Given the description of an element on the screen output the (x, y) to click on. 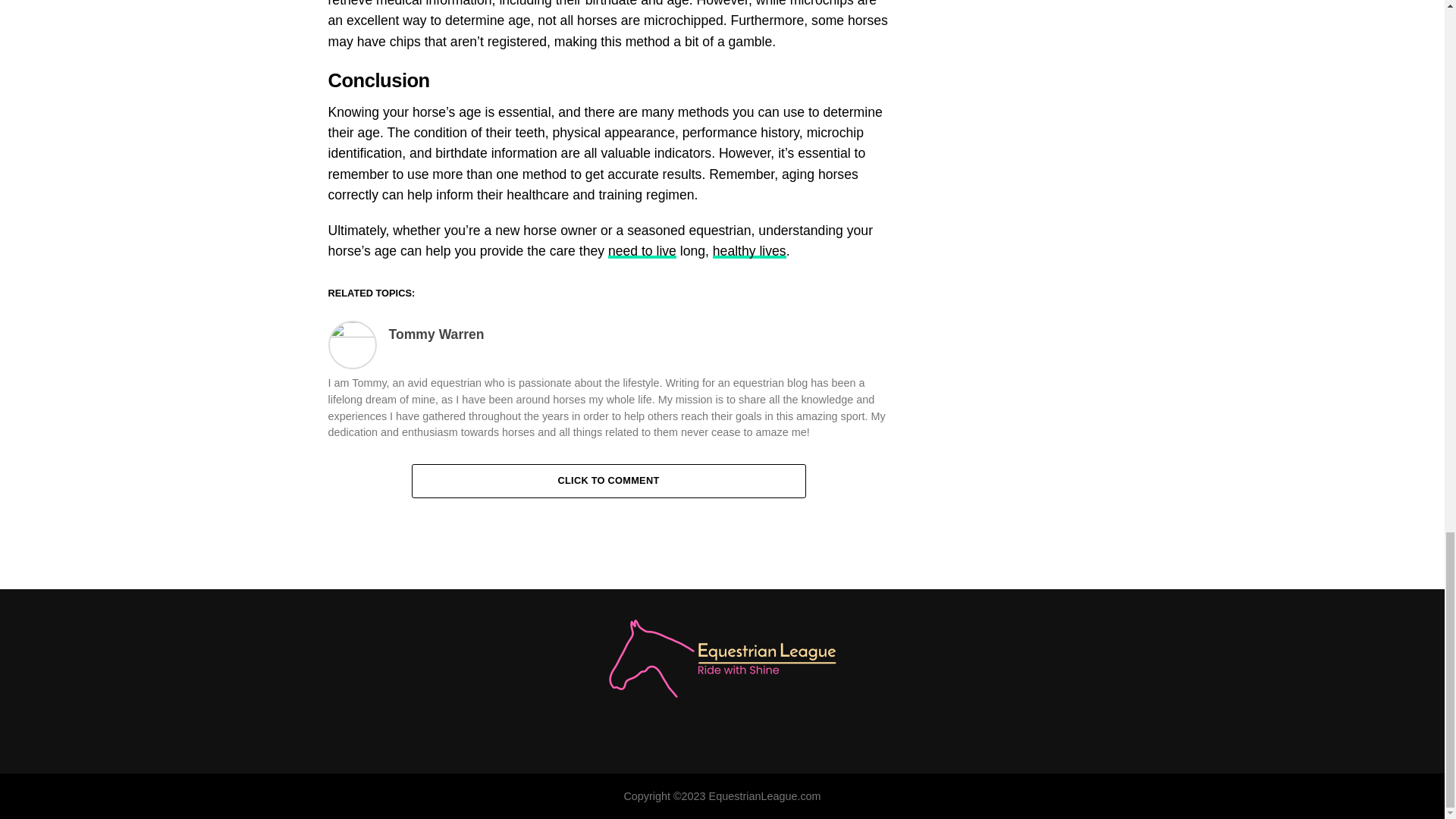
need to live (642, 250)
Posts by Tommy Warren (435, 334)
Tommy Warren (435, 334)
healthy lives (749, 250)
